Given the description of an element on the screen output the (x, y) to click on. 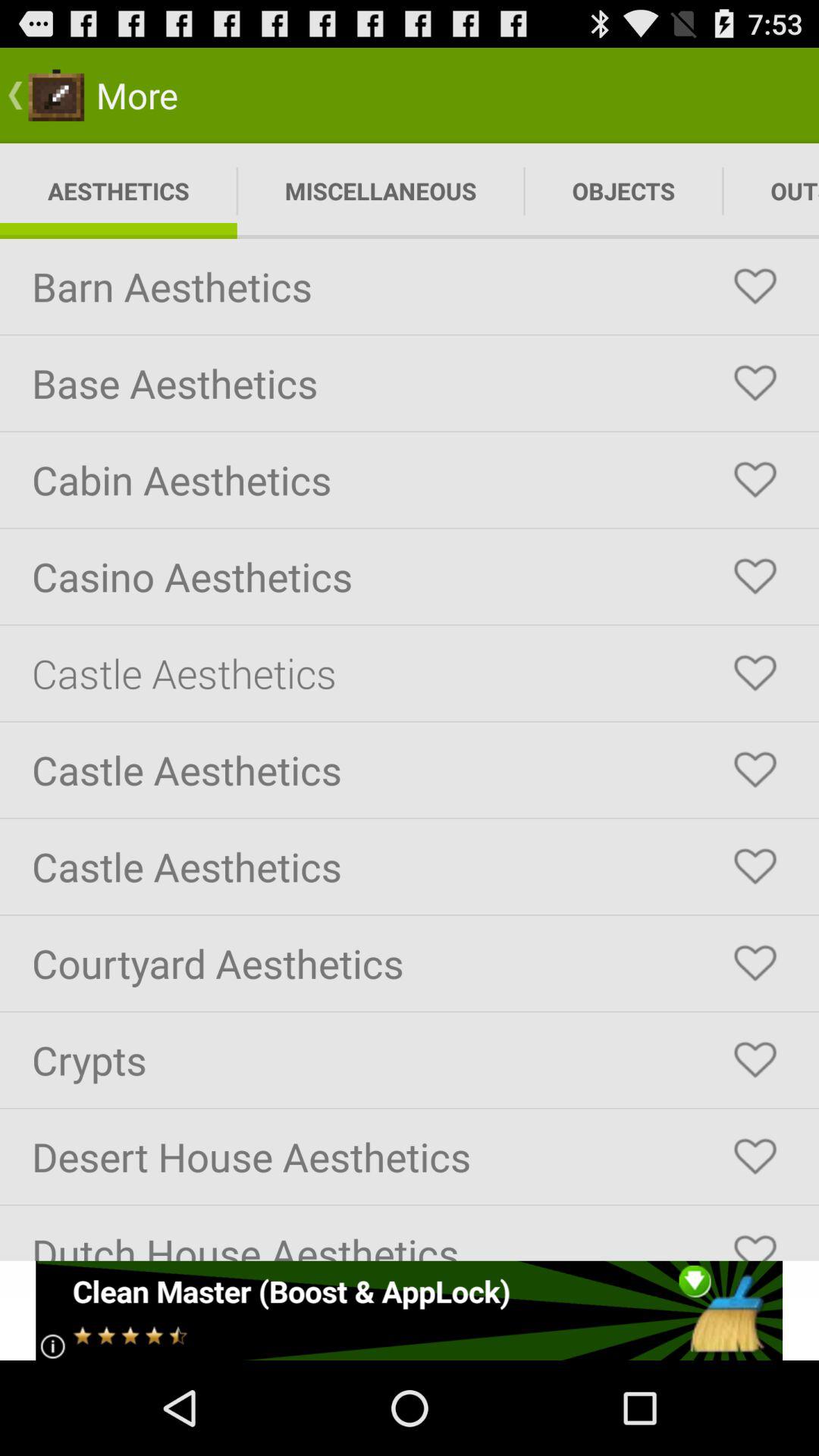
favorite courtyard aesthetics (755, 963)
